Given the description of an element on the screen output the (x, y) to click on. 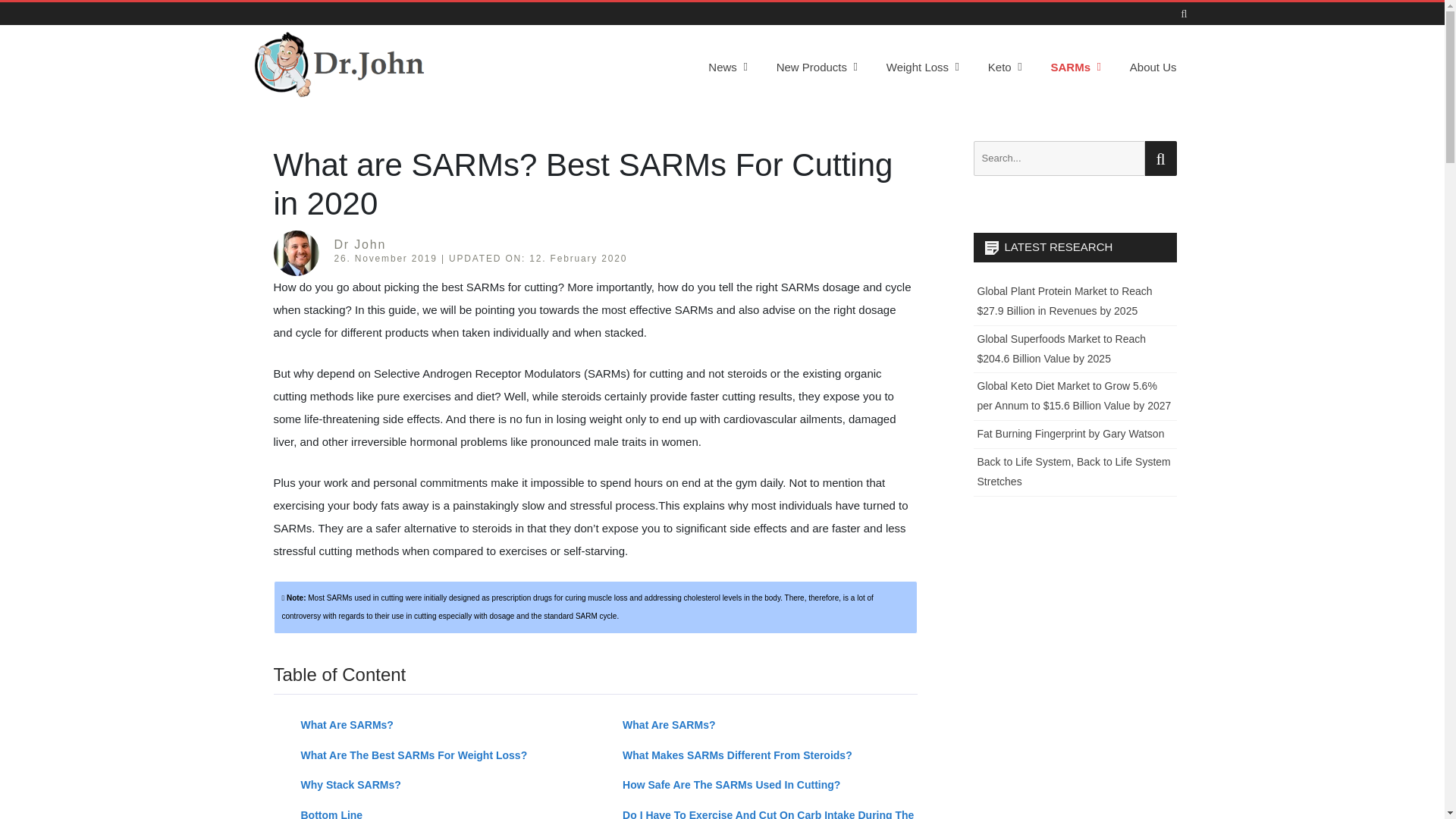
Search for: (1059, 158)
DrJohn.org (302, 107)
